Given the description of an element on the screen output the (x, y) to click on. 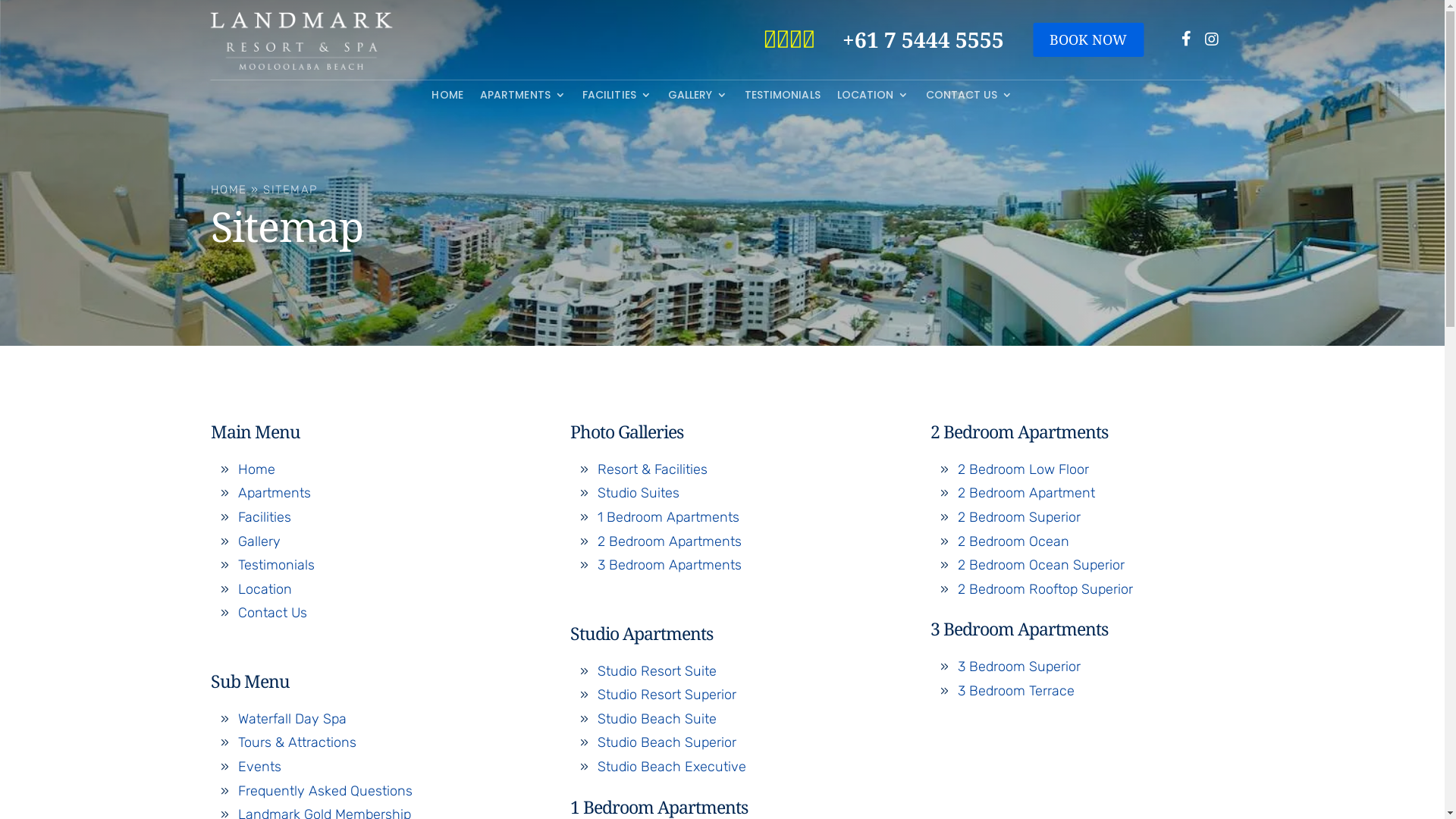
Contact Us Element type: text (272, 612)
2 Bedroom Ocean Superior Element type: text (1040, 564)
Studio Beach Superior Element type: text (666, 742)
BOOK NOW Element type: text (1087, 39)
HOME Element type: text (446, 97)
2 Bedroom Superior Element type: text (1018, 516)
Home Element type: text (256, 469)
Facilities Element type: text (264, 516)
3 Bedroom Apartments Element type: text (669, 564)
HOME Element type: text (228, 189)
LOCATION Element type: text (873, 97)
Tours & Attractions Element type: text (297, 742)
1 Bedroom Apartments Element type: text (668, 516)
Waterfall Day Spa Element type: text (292, 718)
Frequently Asked Questions Element type: text (325, 790)
3 Bedroom Superior Element type: text (1018, 666)
2 Bedroom Low Floor Element type: text (1022, 469)
Apartments Element type: text (274, 492)
Studio Beach Executive Element type: text (671, 766)
FACILITIES Element type: text (616, 97)
APARTMENTS Element type: text (522, 97)
Resort & Facilities Element type: text (652, 469)
2 Bedroom Apartment Element type: text (1026, 492)
Studio Suites Element type: text (638, 492)
GALLERY Element type: text (698, 97)
Gallery Element type: text (259, 541)
Location Element type: text (264, 588)
2 Bedroom Apartments Element type: text (669, 541)
Testimonials Element type: text (276, 564)
Sub Menu Element type: text (249, 680)
2 Bedroom Ocean Element type: text (1013, 541)
Studio Beach Suite Element type: text (656, 718)
3 Bedroom Terrace Element type: text (1015, 690)
+61 7 5444 5555 Element type: text (923, 39)
Studio Resort Suite Element type: text (656, 670)
CONTACT US Element type: text (969, 97)
2 Bedroom Rooftop Superior Element type: text (1044, 588)
LOGO-Wh-500w Element type: hover (301, 40)
TESTIMONIALS Element type: text (782, 97)
Events Element type: text (259, 766)
Studio Resort Superior Element type: text (666, 694)
